Given the description of an element on the screen output the (x, y) to click on. 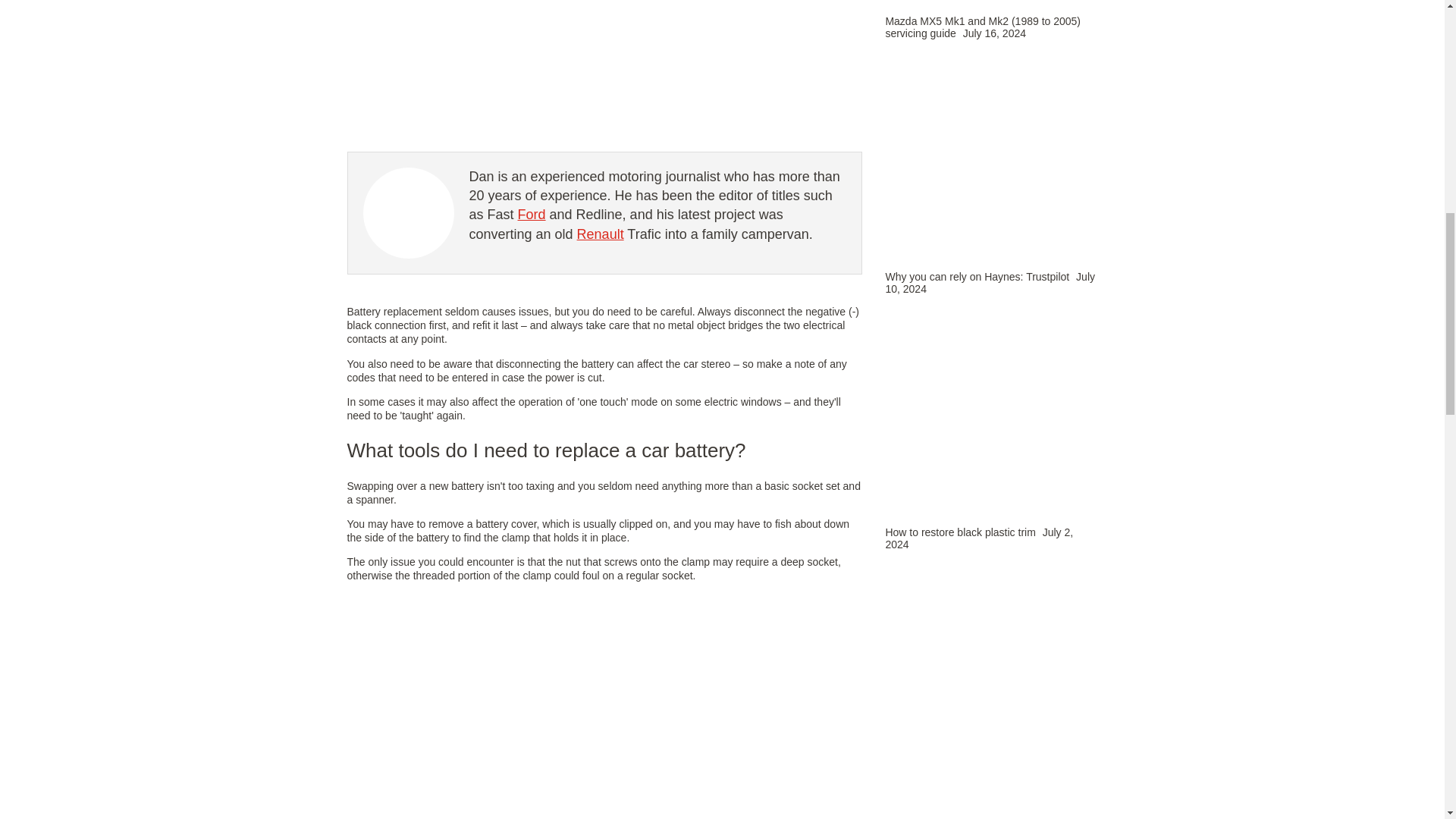
Trustpilot screnshot (991, 160)
Martynn's Tips graphic (991, 416)
